Given the description of an element on the screen output the (x, y) to click on. 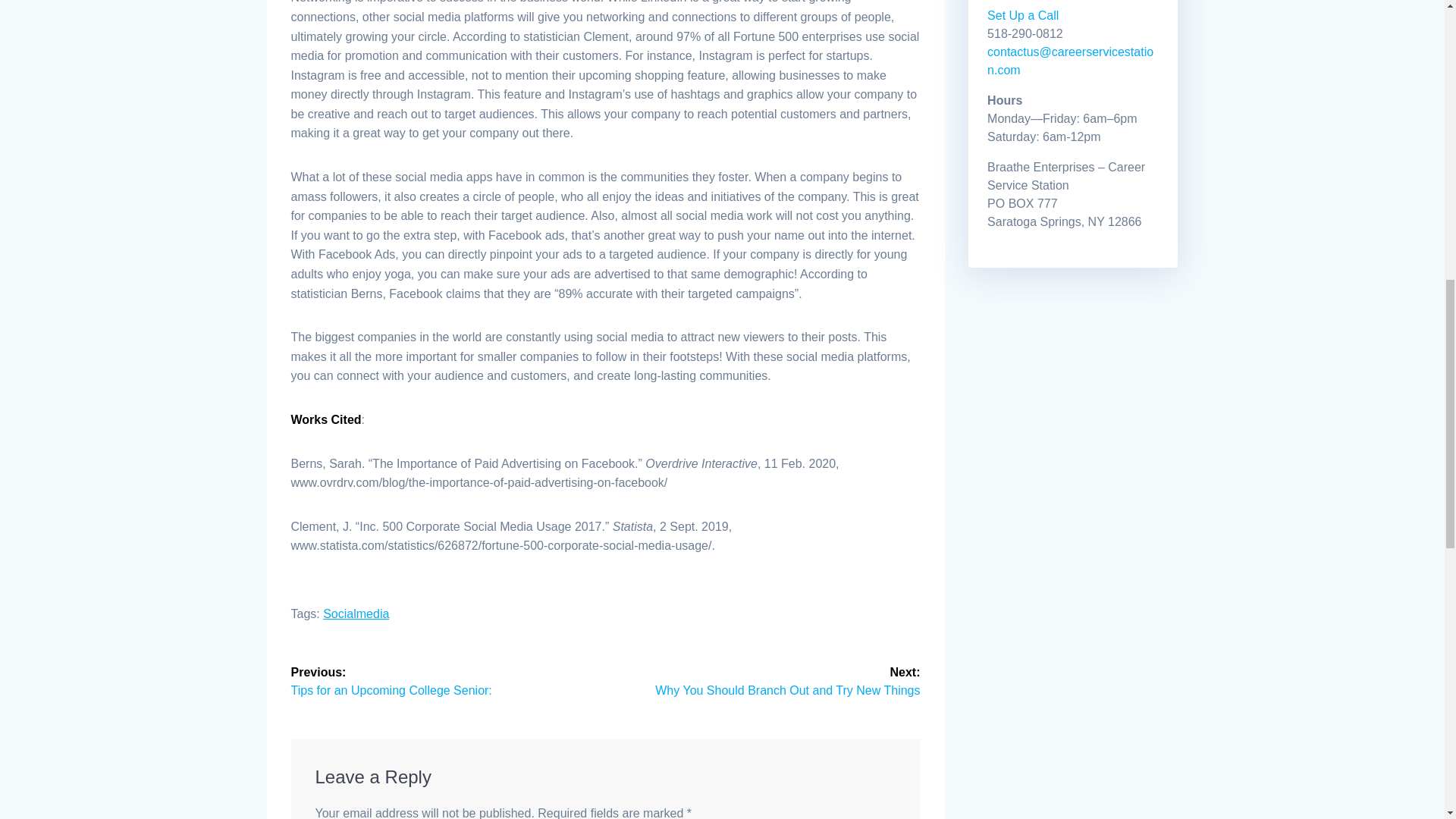
Set Up a Call (1022, 15)
Socialmedia (355, 613)
